Given the description of an element on the screen output the (x, y) to click on. 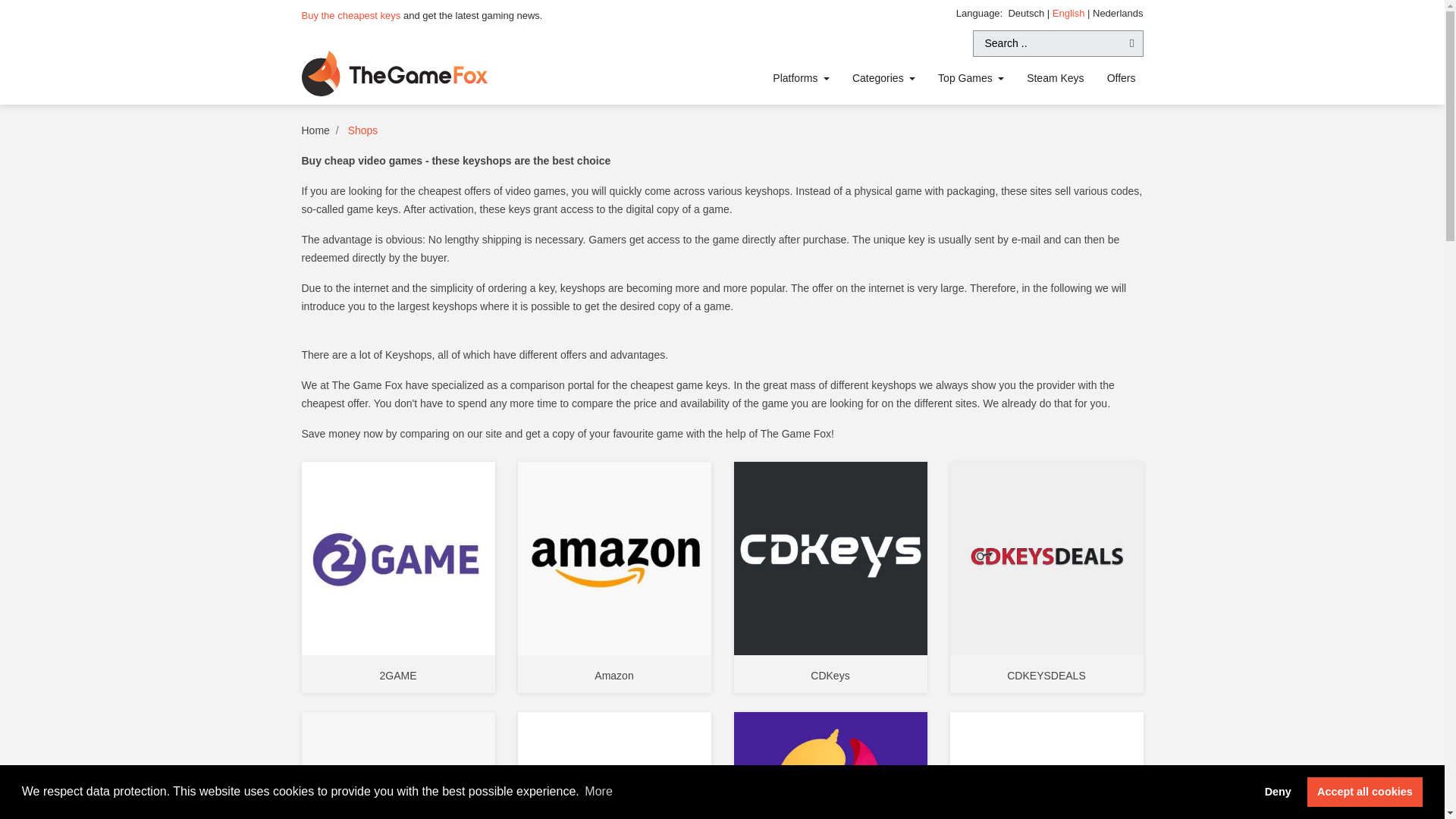
Top Games (970, 78)
Steam Keys (1054, 78)
Offers (1121, 78)
Accept all cookies (1365, 791)
More (598, 791)
Deutsch (1026, 12)
Home (315, 130)
Shops (362, 130)
Platforms (801, 78)
Categories (883, 78)
